Given the description of an element on the screen output the (x, y) to click on. 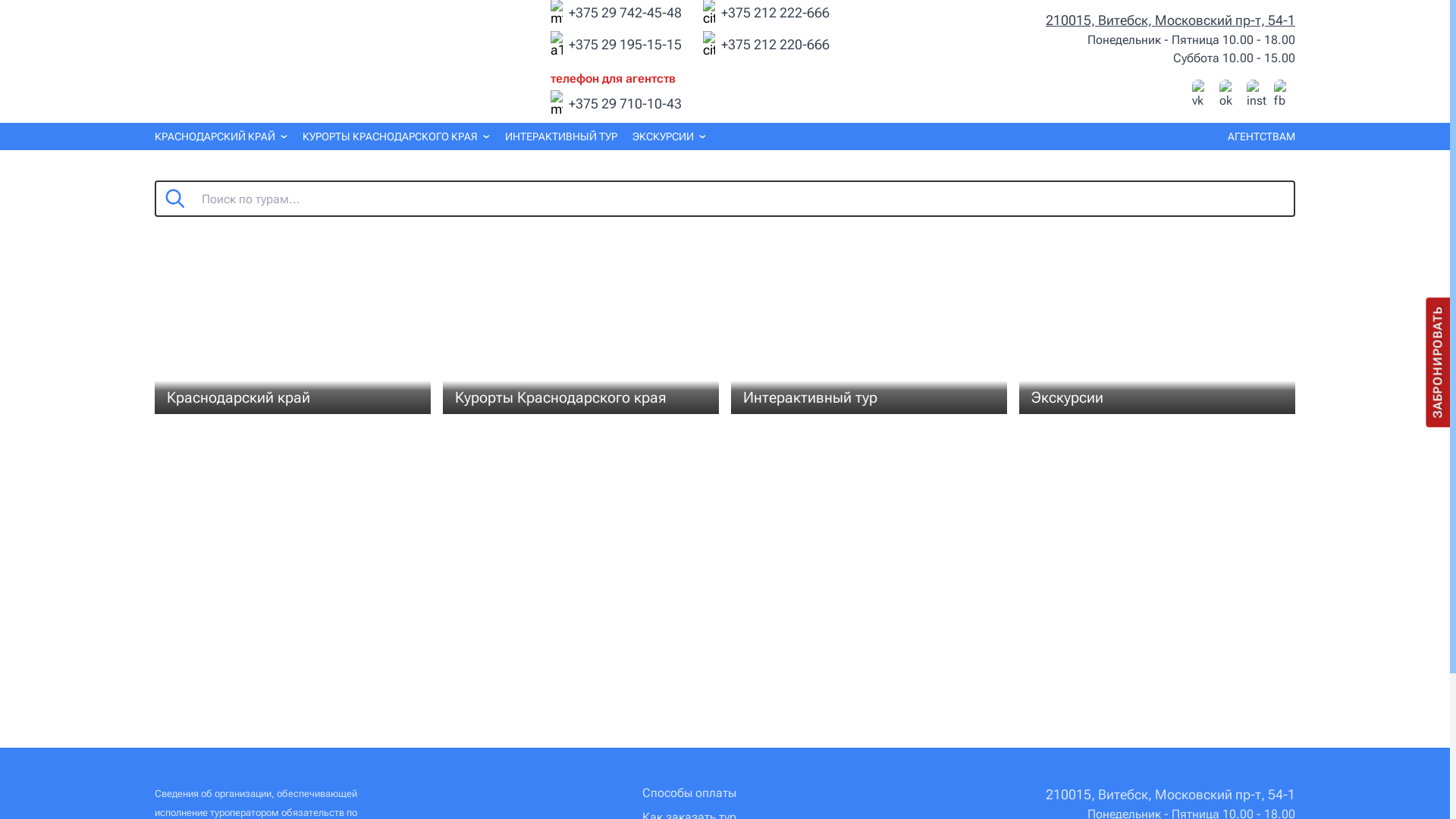
+375 212 220-666 Element type: text (774, 44)
+375 29 195-15-15 Element type: text (624, 44)
+375 212 222-666 Element type: text (774, 12)
+375 29 710-10-43 Element type: text (624, 103)
+375 29 742-45-48 Element type: text (624, 12)
